Given the description of an element on the screen output the (x, y) to click on. 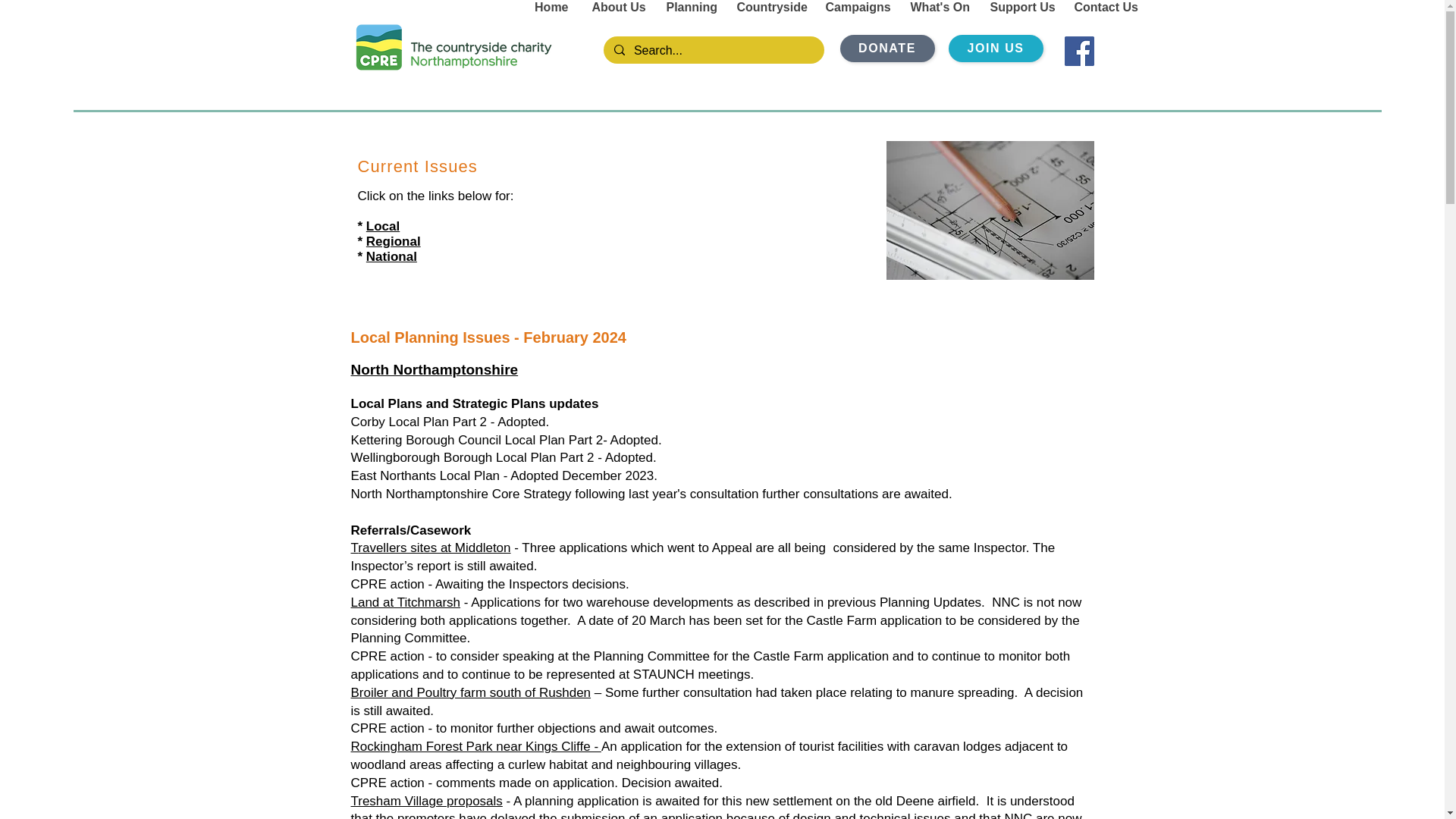
Local (382, 226)
Contact Us (1102, 7)
National (391, 256)
Campaigns (855, 7)
DONATE (887, 48)
What's On (937, 7)
JOIN US (994, 48)
Home (550, 7)
Regional (393, 241)
